Given the description of an element on the screen output the (x, y) to click on. 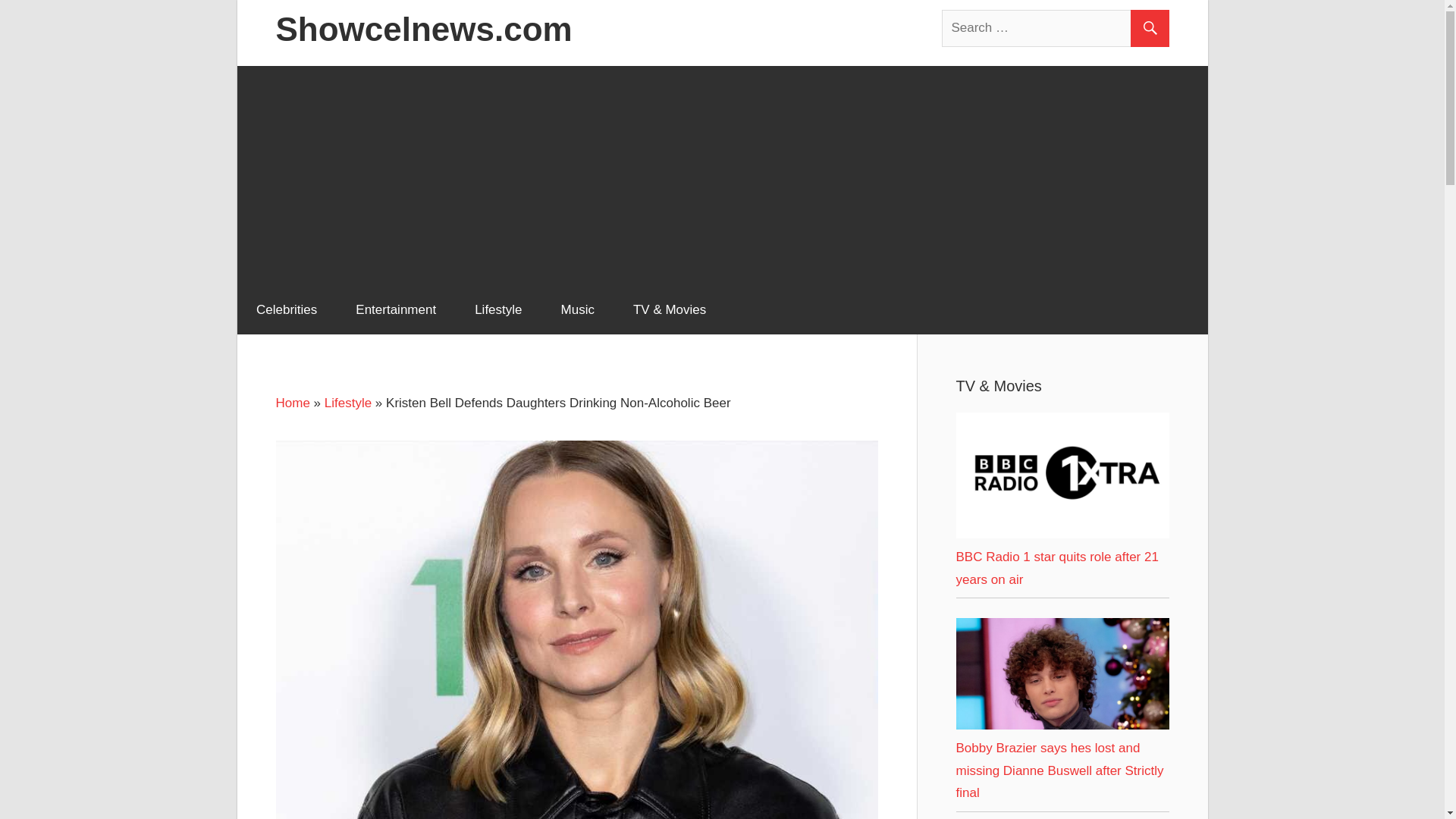
Showcelnews.com (424, 28)
Lifestyle (498, 309)
Lifestyle (347, 402)
BBC Radio 1 star quits role after 21 years on air (1062, 475)
Celebrities (285, 309)
Entertainment (395, 309)
BBC Radio 1 star quits role after 21 years on air (1062, 534)
